Given the description of an element on the screen output the (x, y) to click on. 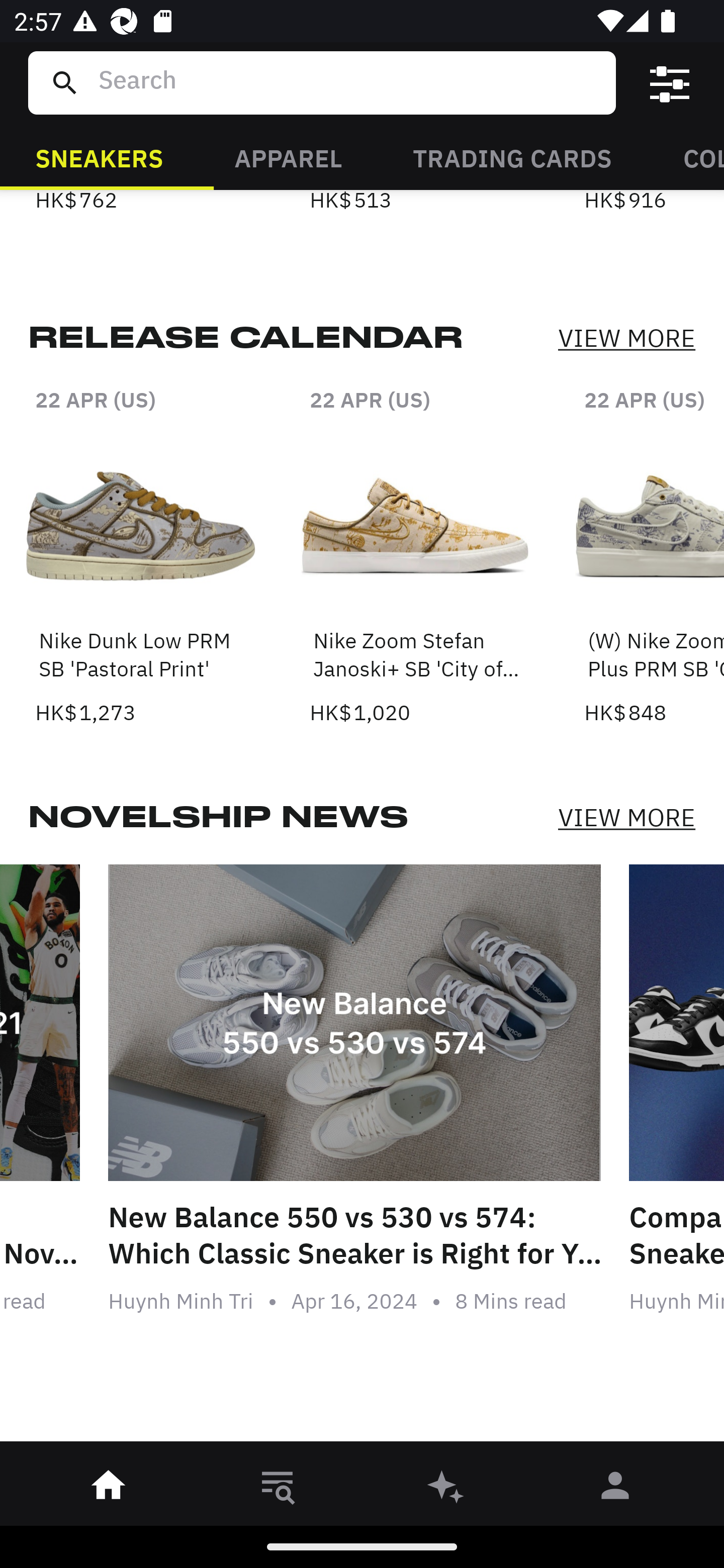
Search (349, 82)
 (669, 82)
SNEAKERS (99, 156)
APPAREL (287, 156)
TRADING CARDS (512, 156)
VIEW MORE (626, 338)
VIEW MORE (626, 816)
󰋜 (108, 1488)
󱎸 (277, 1488)
󰫢 (446, 1488)
󰀄 (615, 1488)
